Given the description of an element on the screen output the (x, y) to click on. 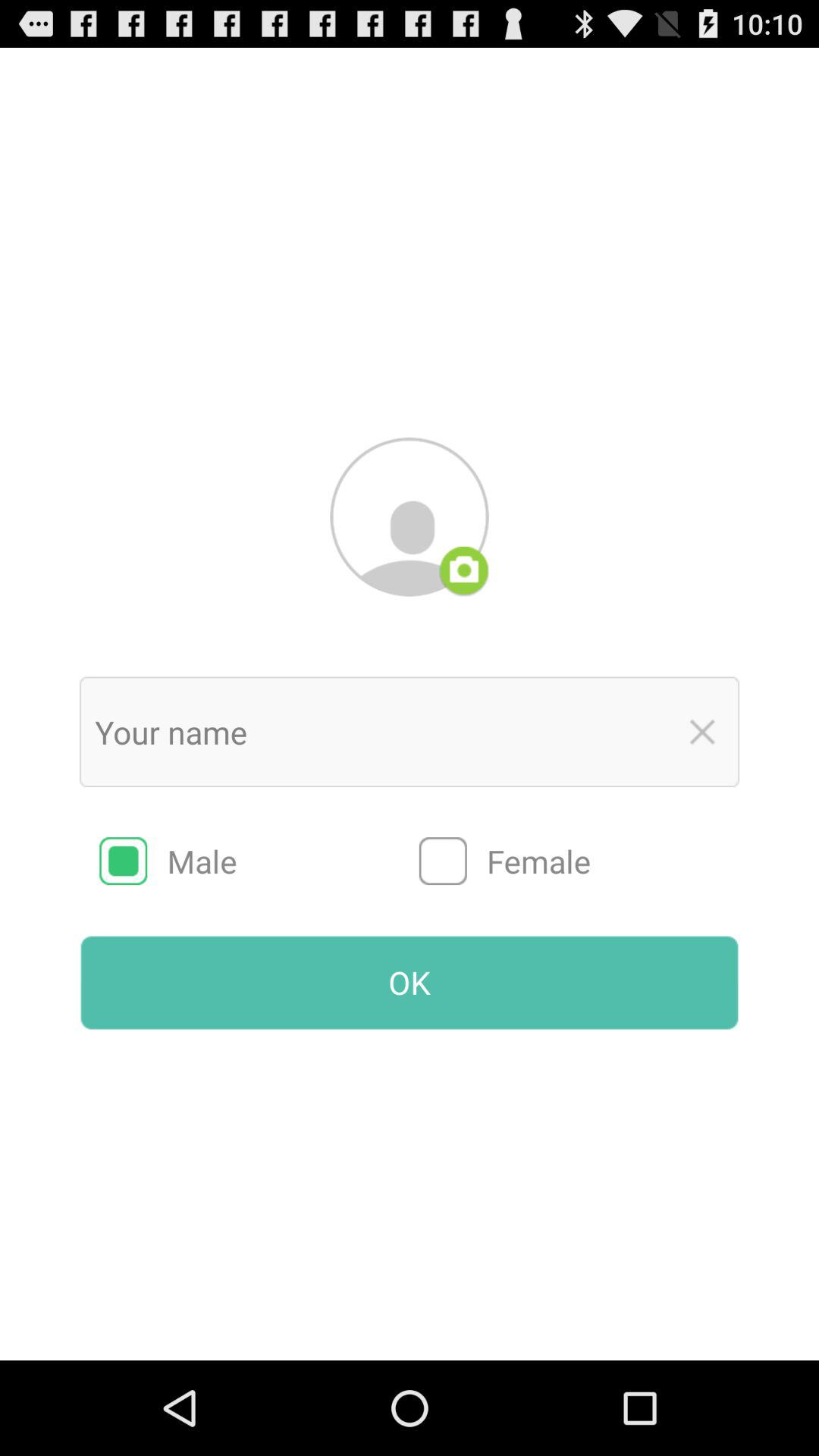
click button above the ok icon (259, 860)
